Given the description of an element on the screen output the (x, y) to click on. 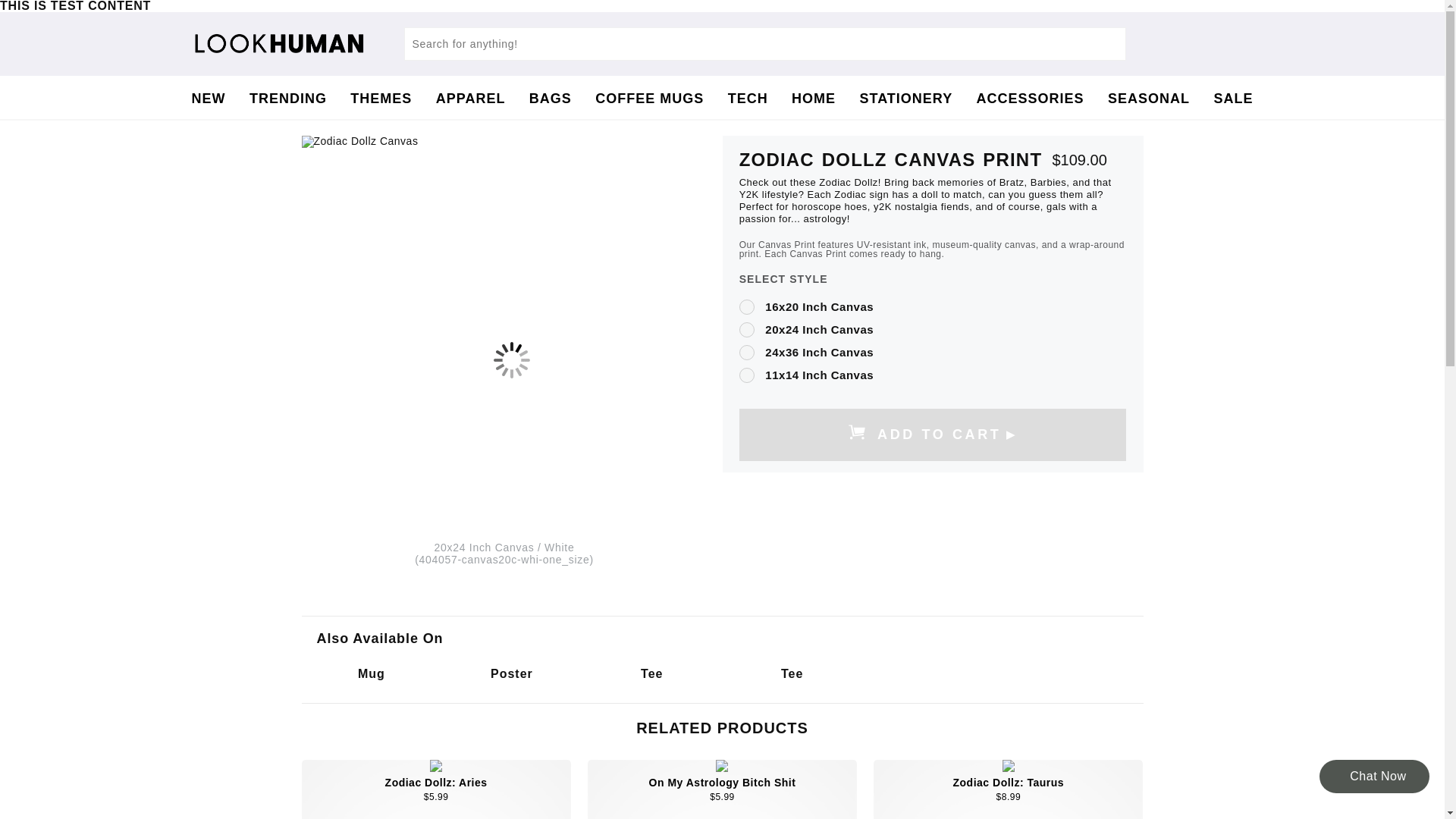
Back to Home (296, 43)
My Account (1188, 44)
TRENDING (287, 98)
Wishlist (1230, 44)
Zodiac Dollz Canvas (501, 141)
canvas24c (746, 352)
canvas16c (746, 306)
Cart (1146, 44)
Search (764, 43)
canvas11c (746, 375)
NEW (207, 98)
canvas20c (746, 329)
LookHUMAN (278, 42)
